Given the description of an element on the screen output the (x, y) to click on. 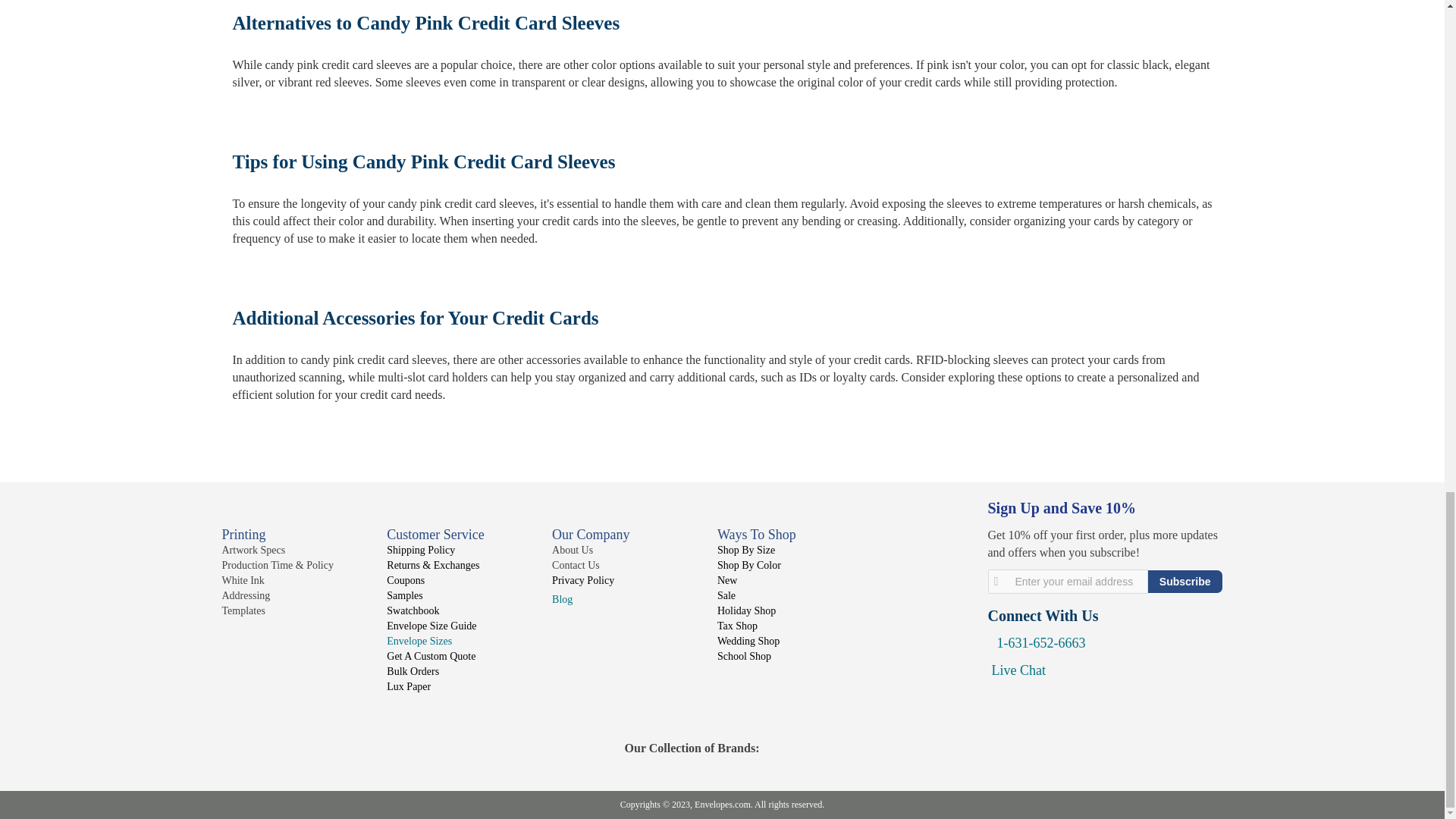
Subscribe (1185, 581)
White Ink (242, 580)
Shipping Policy (420, 550)
About us (571, 550)
Addressing (245, 595)
Production Time (277, 564)
Samples (404, 595)
ARtwork Specs (253, 550)
